Given the description of an element on the screen output the (x, y) to click on. 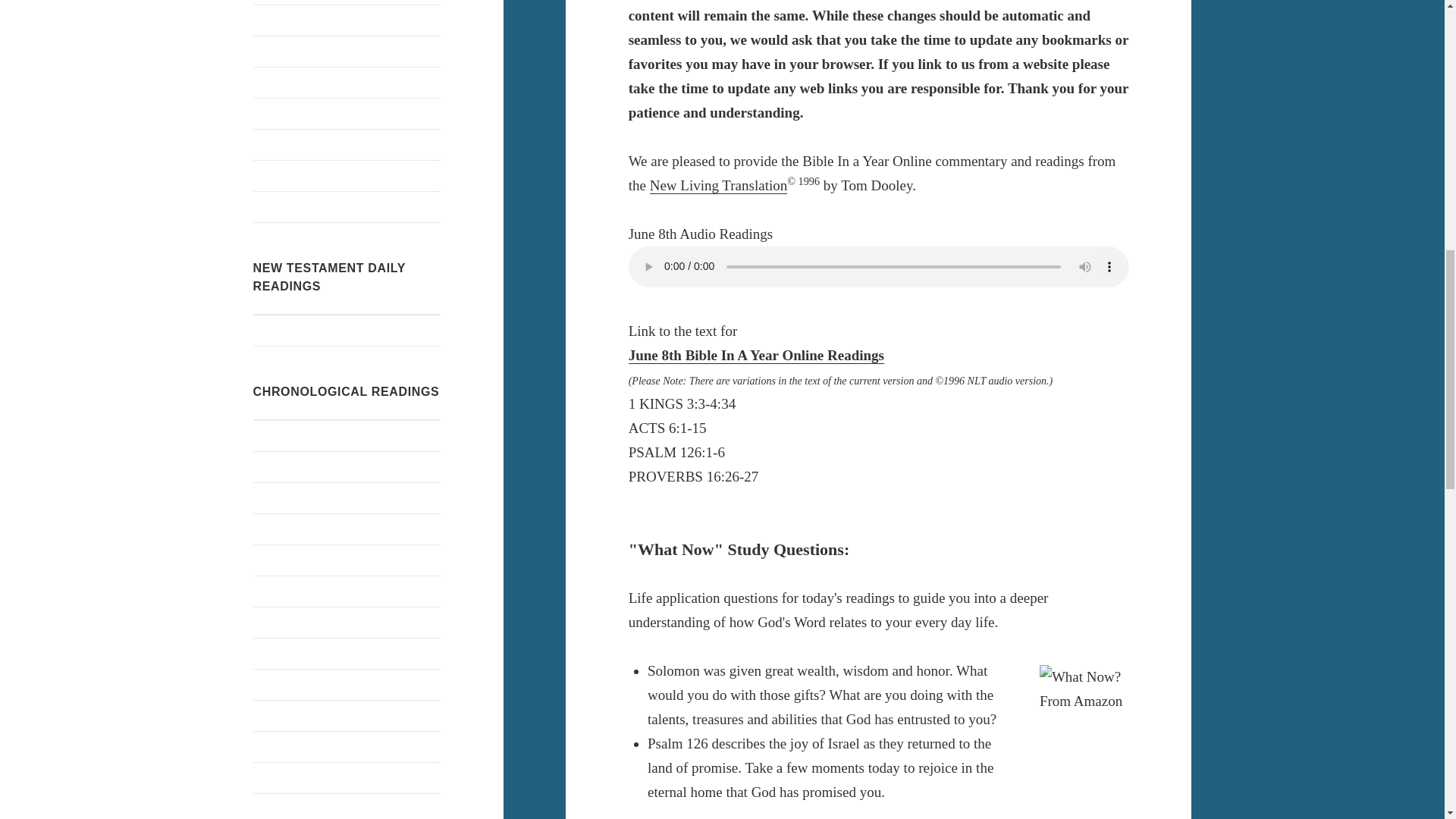
January (347, 467)
Intro To The New Living Translation (718, 185)
August (347, 82)
April (347, 560)
May (347, 2)
February (347, 498)
June (755, 355)
July (347, 622)
September (347, 51)
October (347, 716)
July (347, 747)
August (347, 653)
December (347, 684)
October (347, 206)
